Given the description of an element on the screen output the (x, y) to click on. 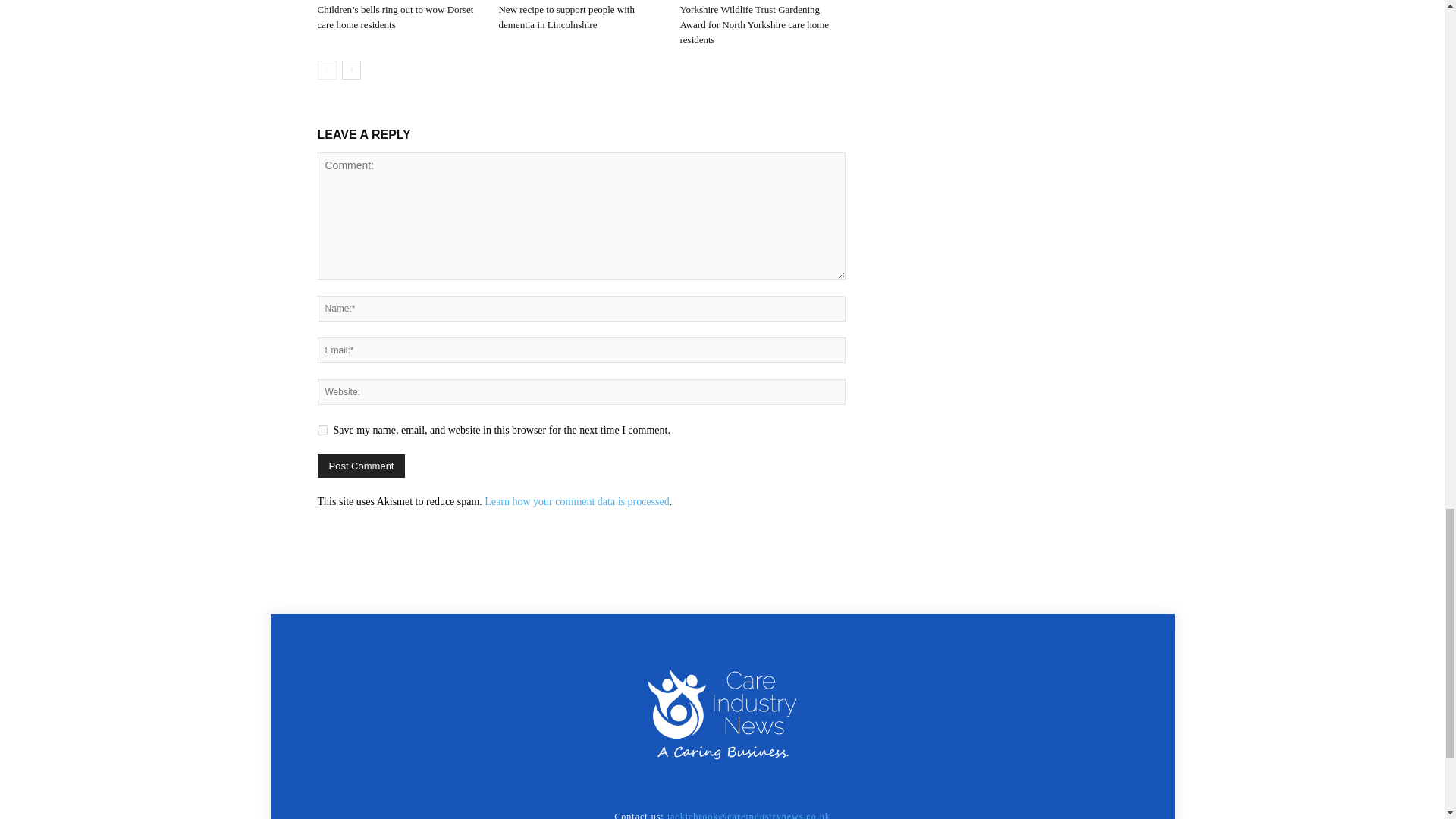
Post Comment (360, 465)
yes (321, 429)
